Given the description of an element on the screen output the (x, y) to click on. 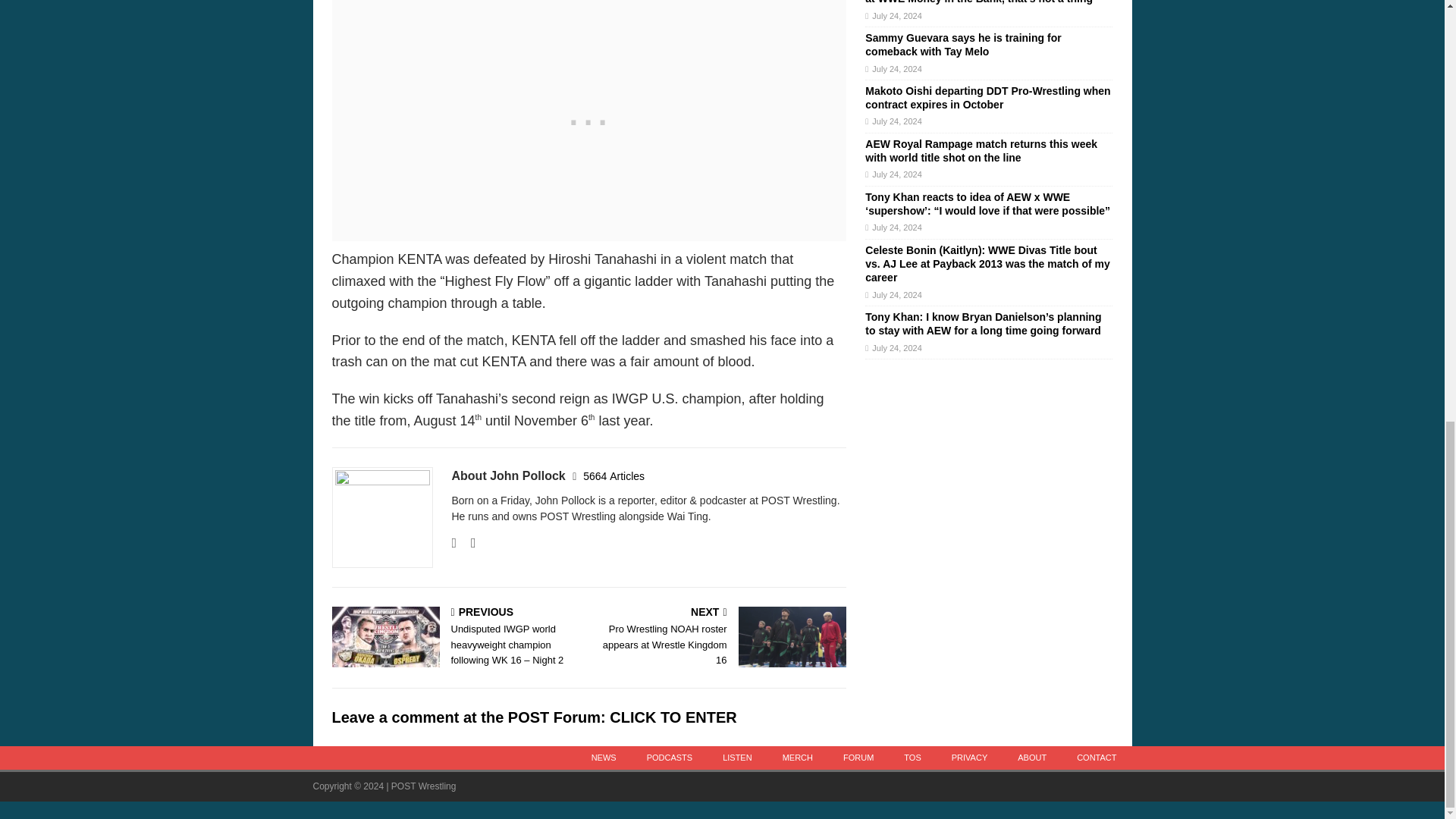
More articles written by John Pollock' (614, 476)
Follow John Pollock on Instagram (468, 542)
